Given the description of an element on the screen output the (x, y) to click on. 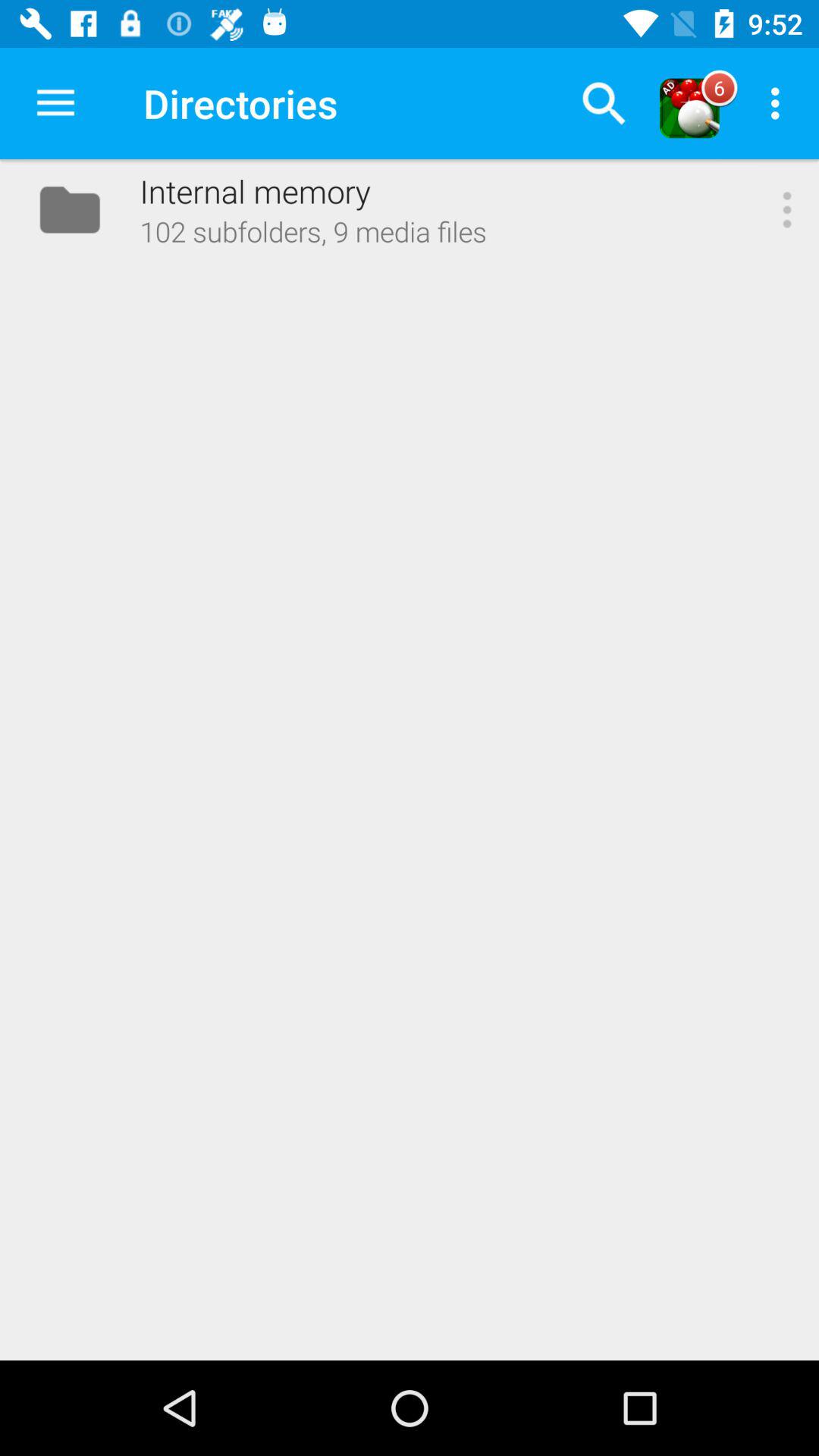
tap app to the right of 6 app (779, 103)
